Given the description of an element on the screen output the (x, y) to click on. 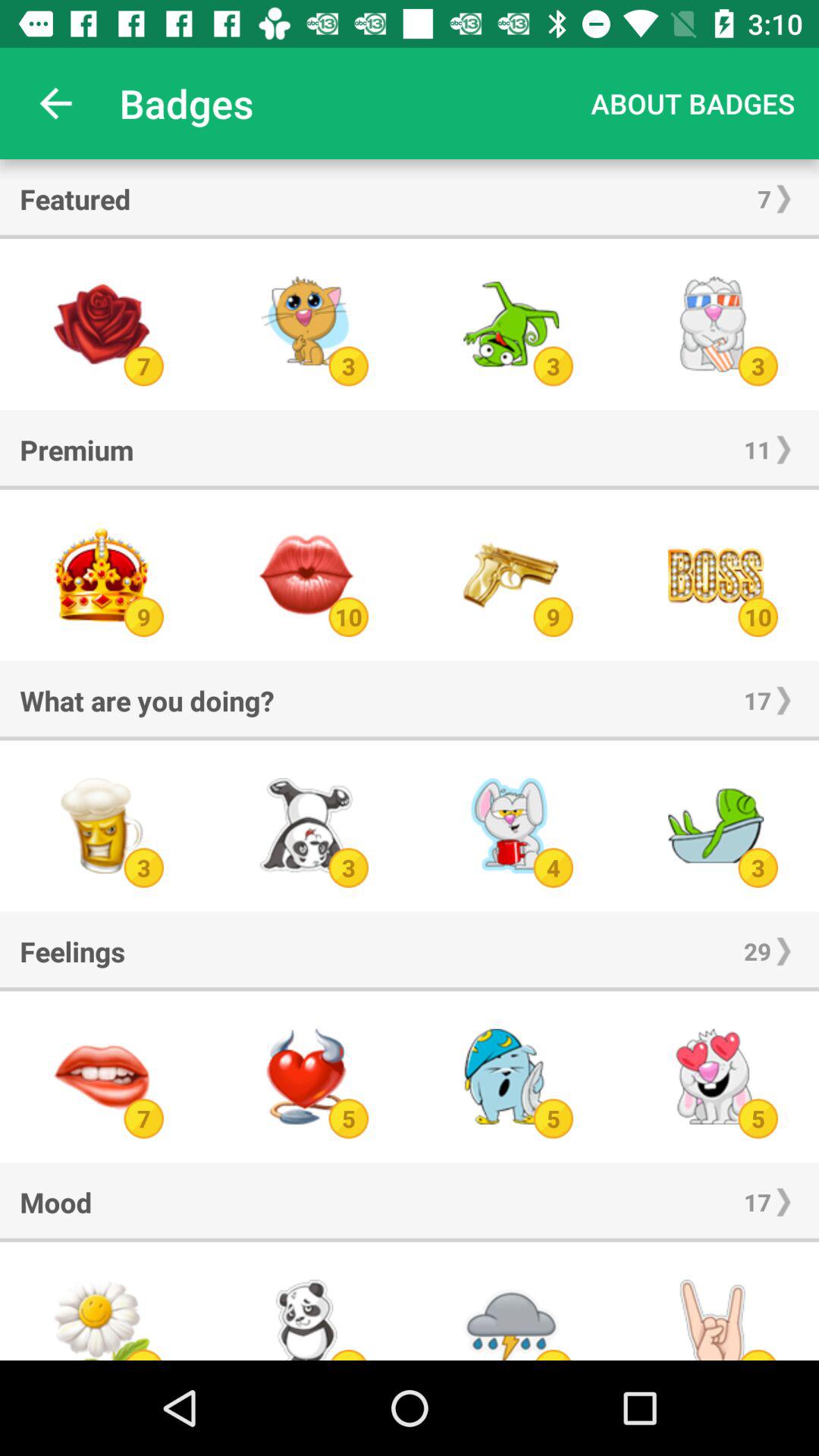
turn off the app to the right of the badges app (693, 103)
